Given the description of an element on the screen output the (x, y) to click on. 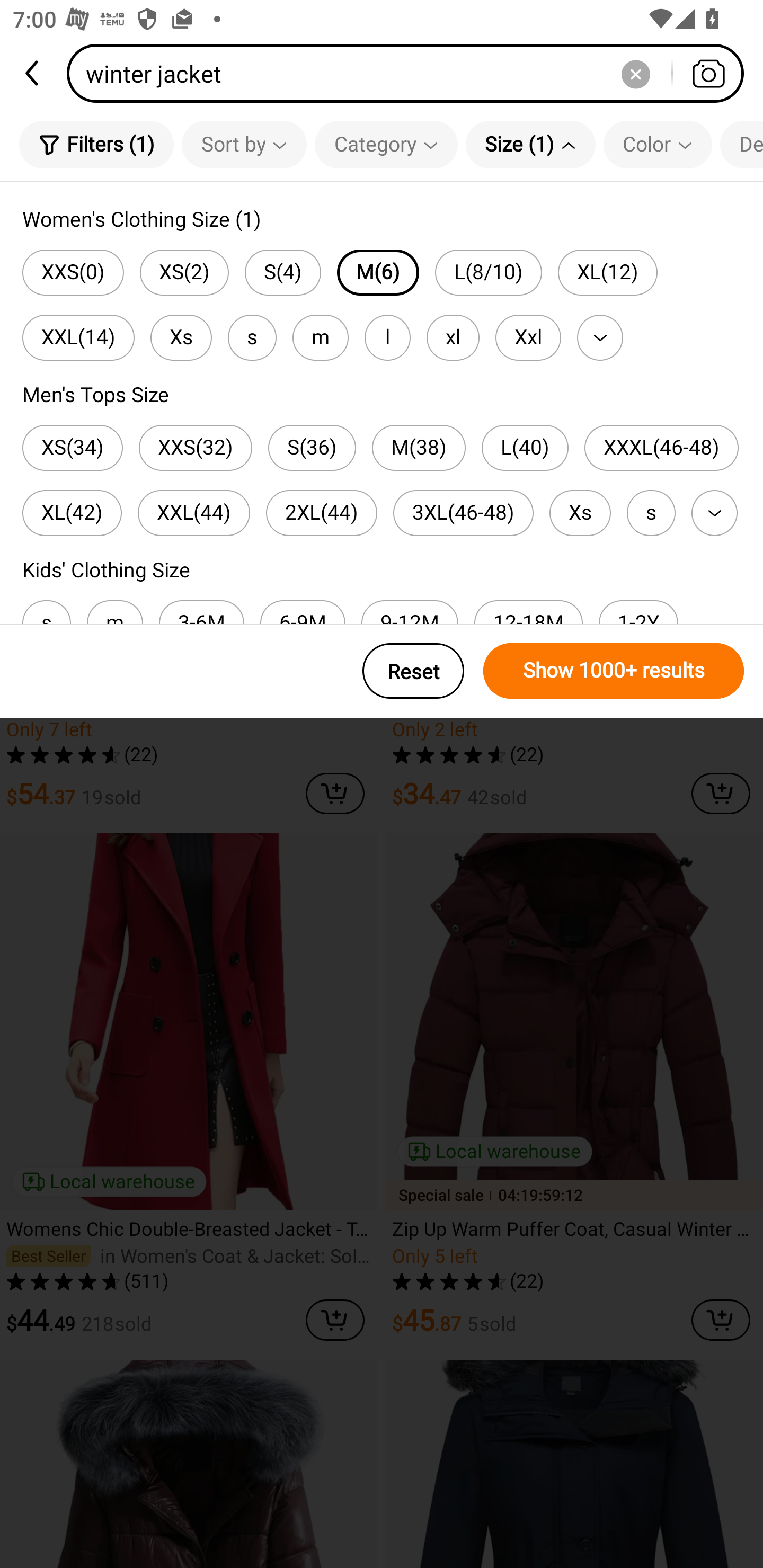
back (33, 72)
winter jacket (411, 73)
Delete search history (635, 73)
Search by photo (708, 73)
Filters (1) (96, 143)
Sort by (243, 143)
Category (385, 143)
Size (1) (530, 143)
Color (657, 143)
XXS(0) (72, 272)
XS(2) (183, 272)
S(4) (282, 272)
M(6) (377, 272)
L(8/10) (487, 272)
XL(12) (607, 272)
XXL(14) (78, 337)
Xs (181, 337)
s (252, 337)
m (320, 337)
l (387, 337)
xl (452, 337)
Xxl (527, 337)
More (599, 337)
XS(34) (72, 447)
XXS(32) (195, 447)
S(36) (311, 447)
M(38) (418, 447)
L(40) (524, 447)
XXXL(46-48) (661, 447)
XL(42) (72, 512)
XXL(44) (194, 512)
2XL(44) (321, 512)
3XL(46-48) (462, 512)
Xs (580, 512)
s (651, 512)
More (714, 512)
Reset (412, 670)
Show 1000+ results (612, 670)
